Given the description of an element on the screen output the (x, y) to click on. 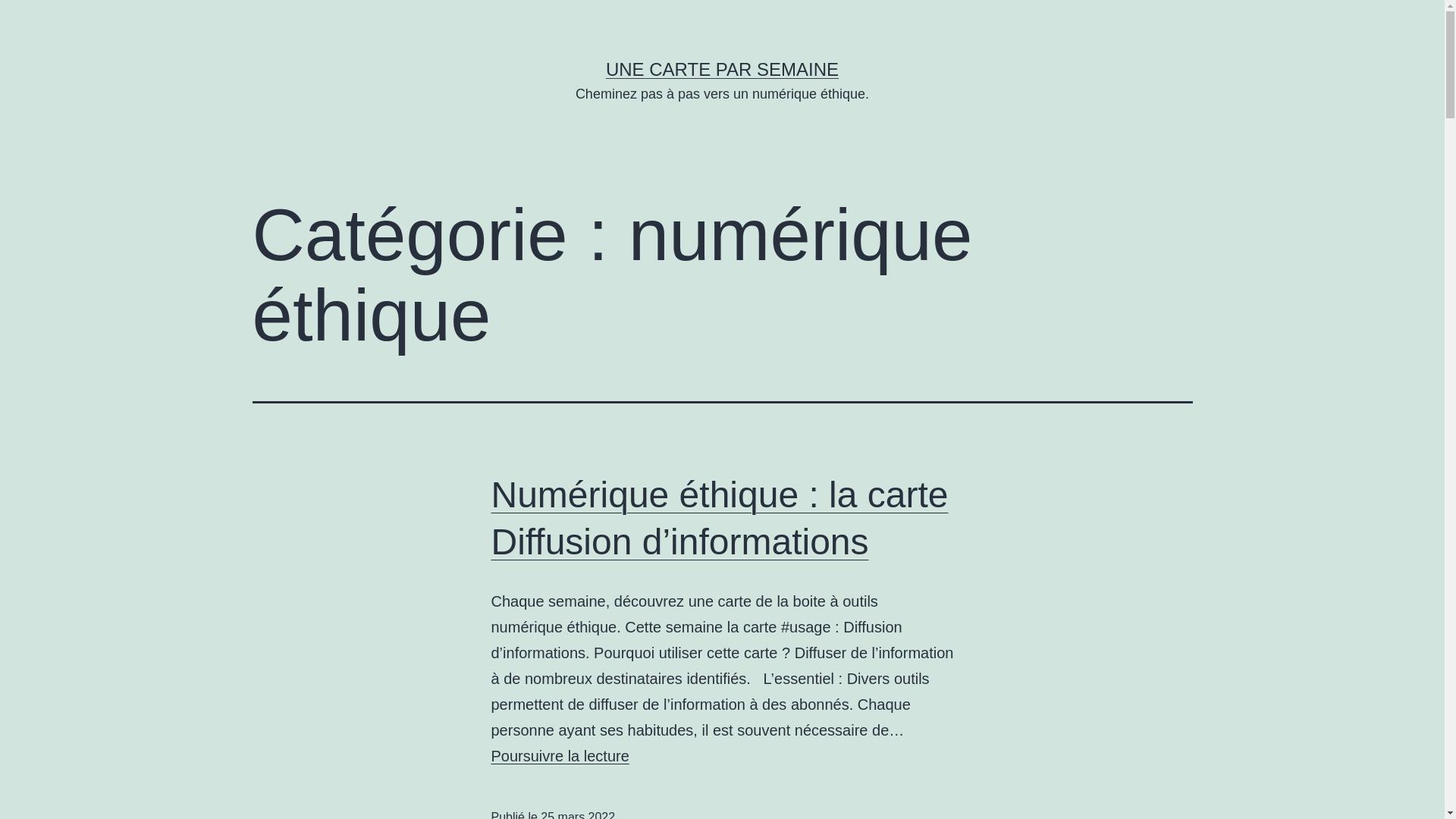
UNE CARTE PAR SEMAINE Element type: text (721, 69)
